Given the description of an element on the screen output the (x, y) to click on. 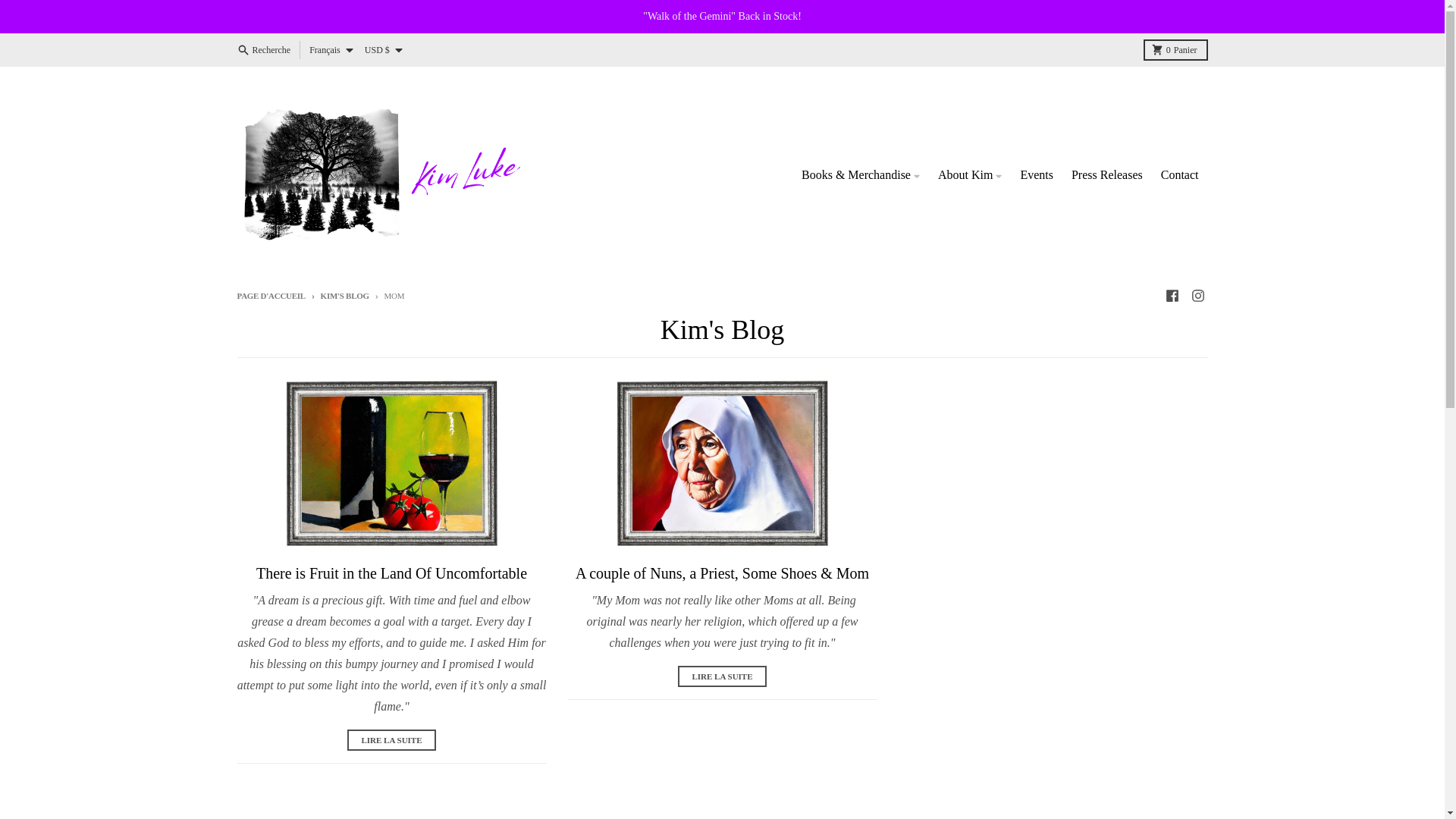
Contact (1179, 174)
There is Fruit in the Land Of Uncomfortable (391, 573)
LIRE LA SUITE (391, 740)
PAGE D'ACCUEIL (1175, 49)
Events (269, 295)
Press Releases (1036, 174)
Facebook - Kim Luke Books (1106, 174)
Instagram - Kim Luke Books (1170, 295)
KIM'S BLOG (1197, 295)
Recherche (337, 295)
